Given the description of an element on the screen output the (x, y) to click on. 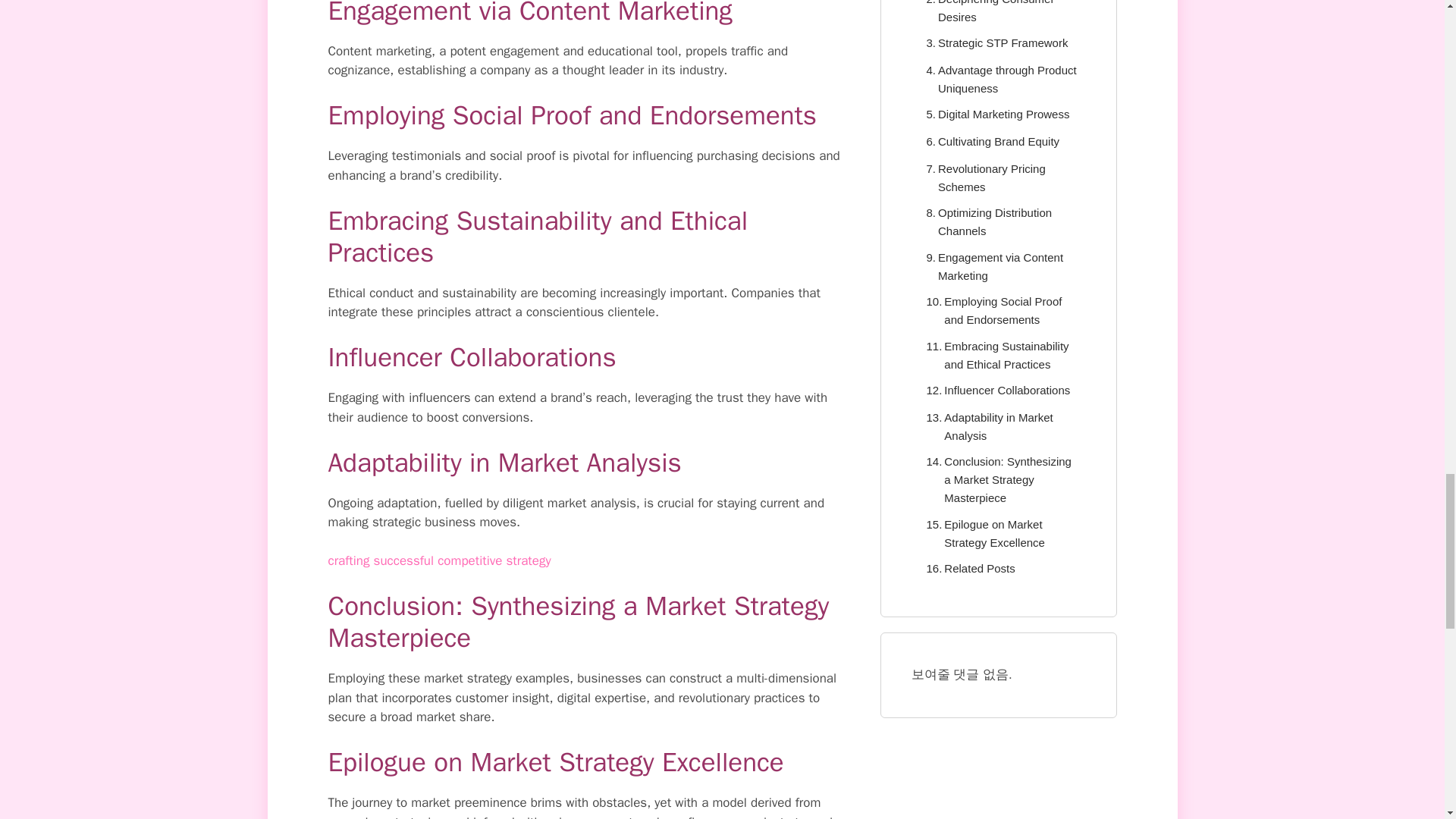
crafting successful competitive strategy (438, 560)
